Given the description of an element on the screen output the (x, y) to click on. 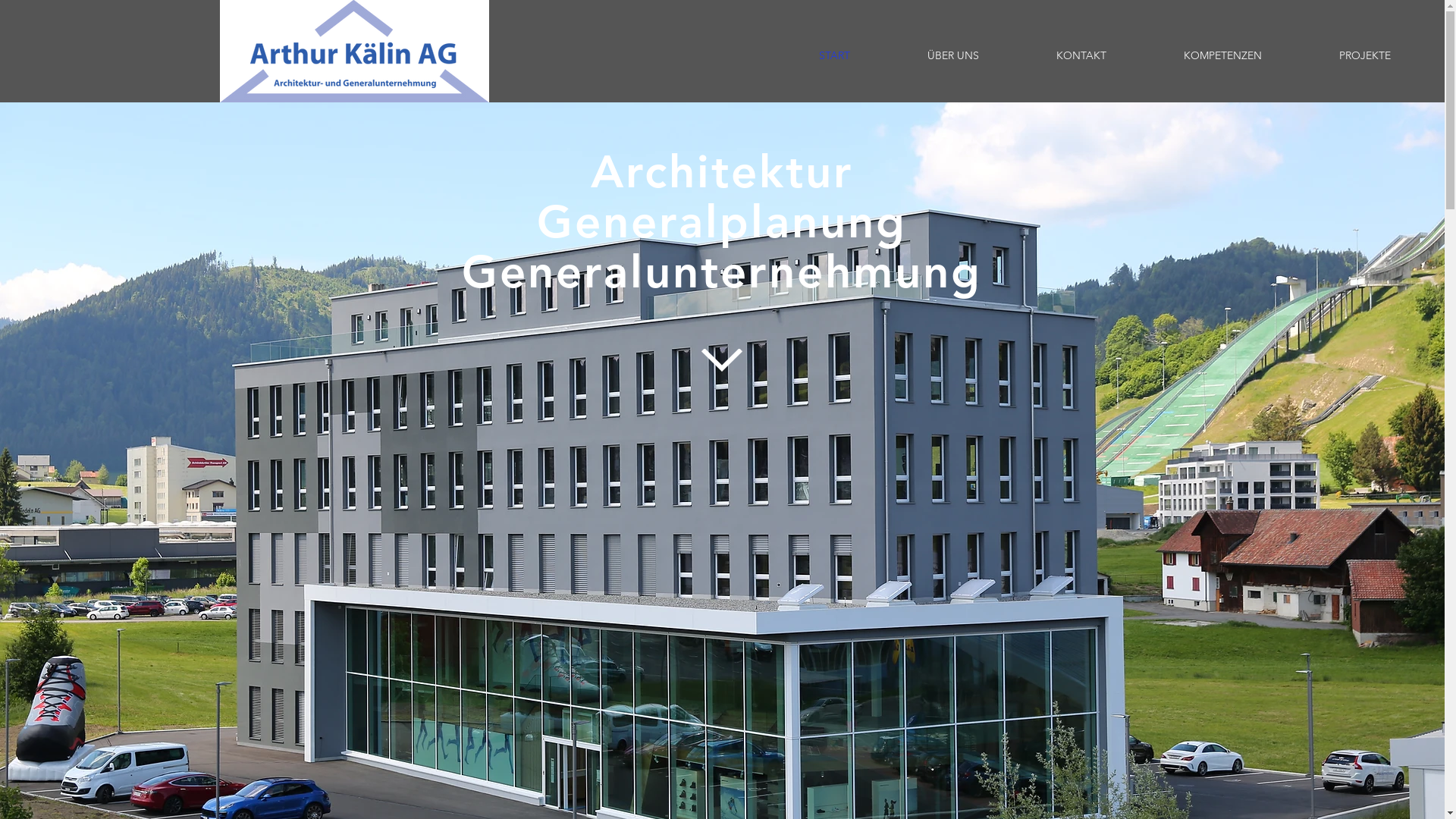
PROJEKTE Element type: text (1364, 55)
START Element type: text (833, 55)
KONTAKT Element type: text (1081, 55)
KOMPETENZEN Element type: text (1222, 55)
